Given the description of an element on the screen output the (x, y) to click on. 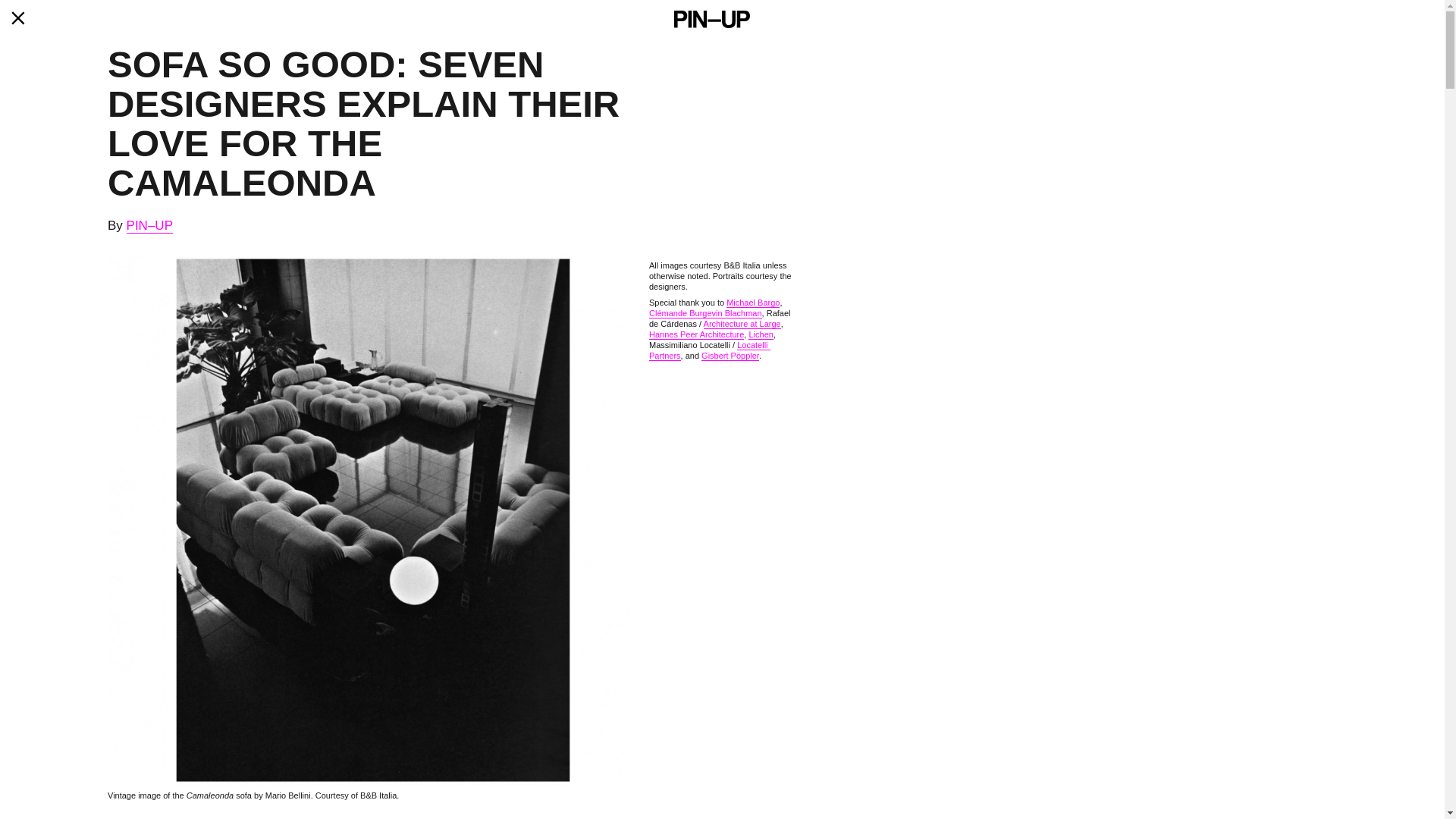
Architecture at Large (741, 324)
Hannes Peer Architecture (696, 334)
Locatelli Partners (709, 350)
Michael Bargo (752, 302)
Lichen (760, 334)
